Given the description of an element on the screen output the (x, y) to click on. 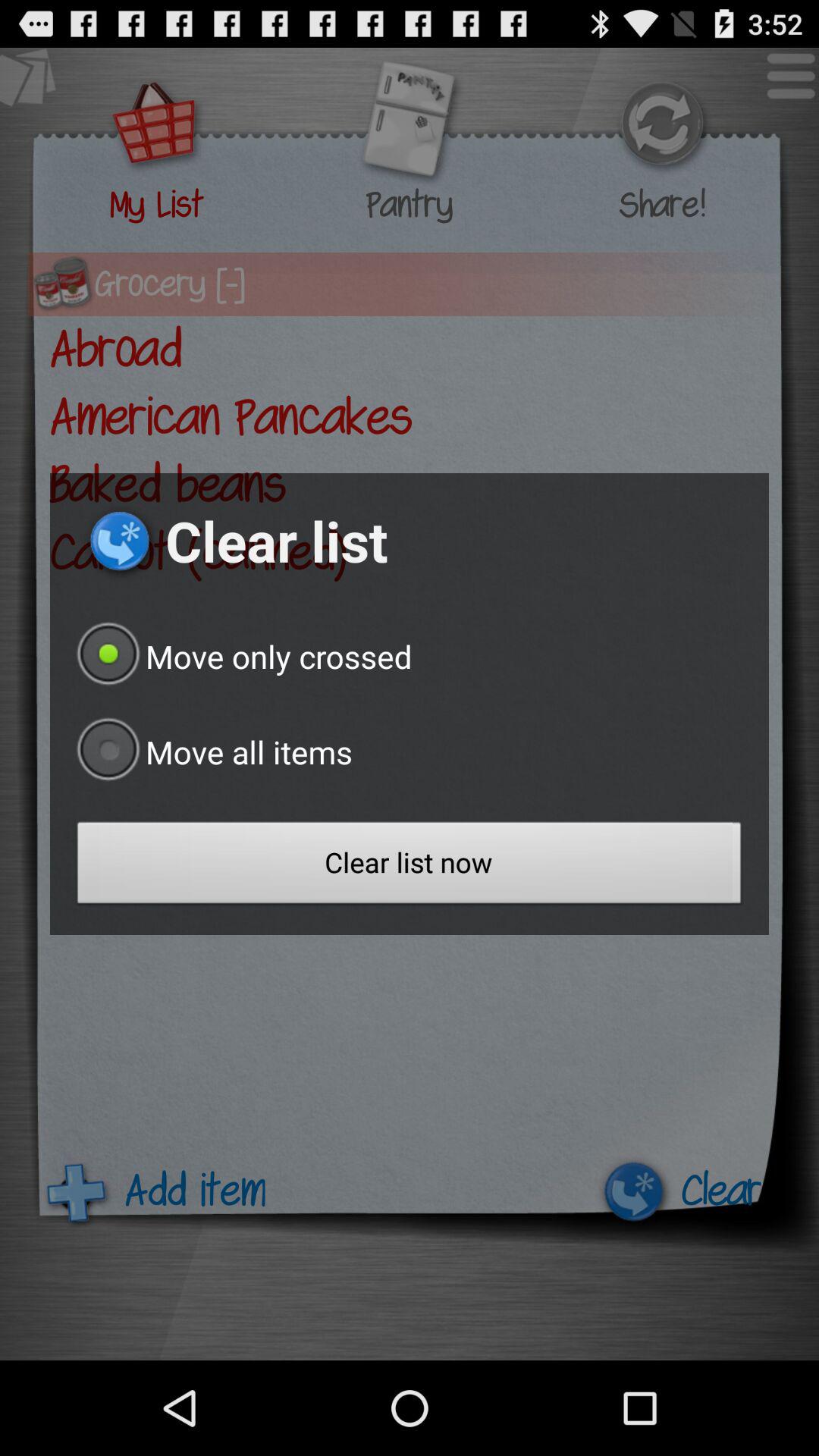
open button above clear list now icon (210, 751)
